Given the description of an element on the screen output the (x, y) to click on. 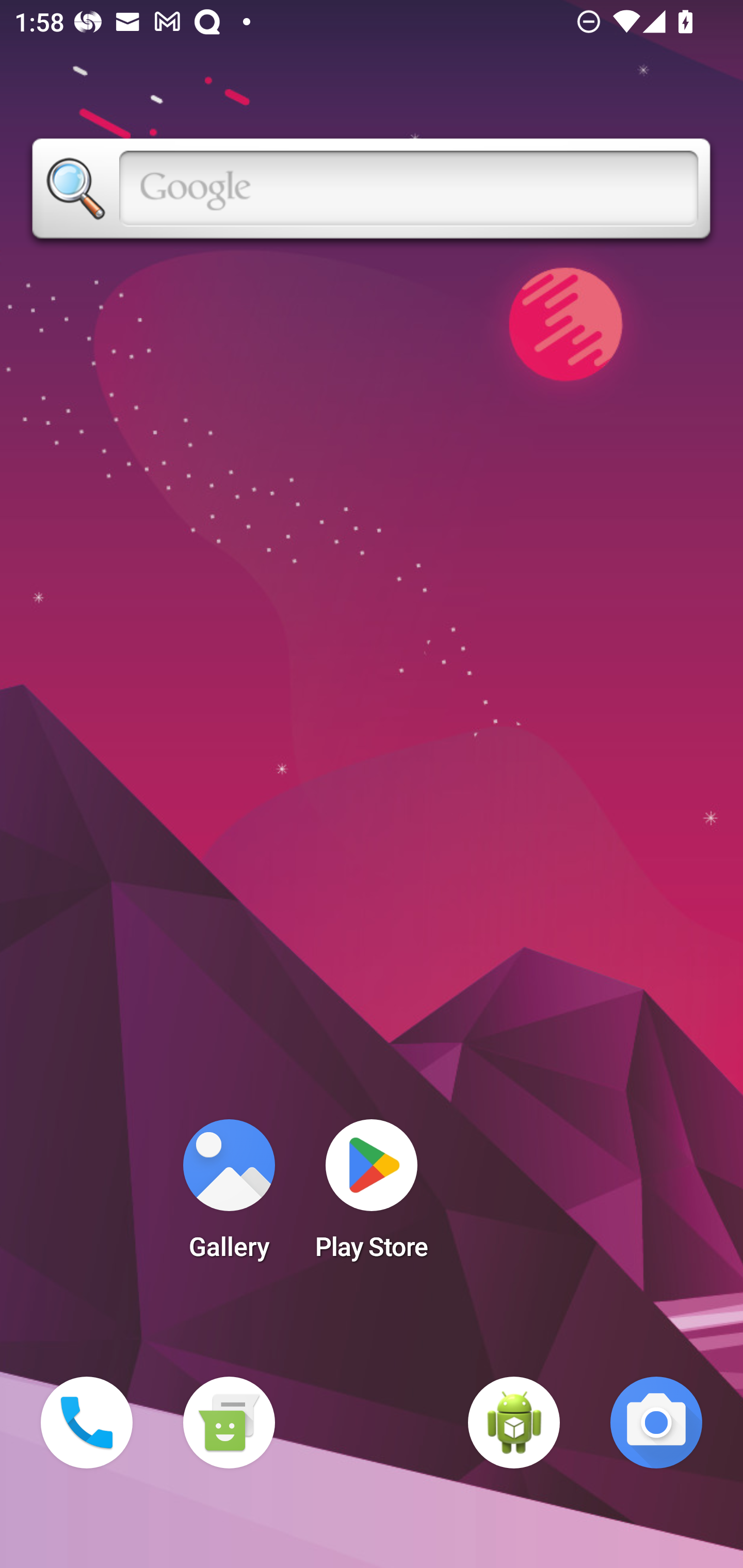
Gallery (228, 1195)
Play Store (371, 1195)
Phone (86, 1422)
Messaging (228, 1422)
WebView Browser Tester (513, 1422)
Camera (656, 1422)
